Given the description of an element on the screen output the (x, y) to click on. 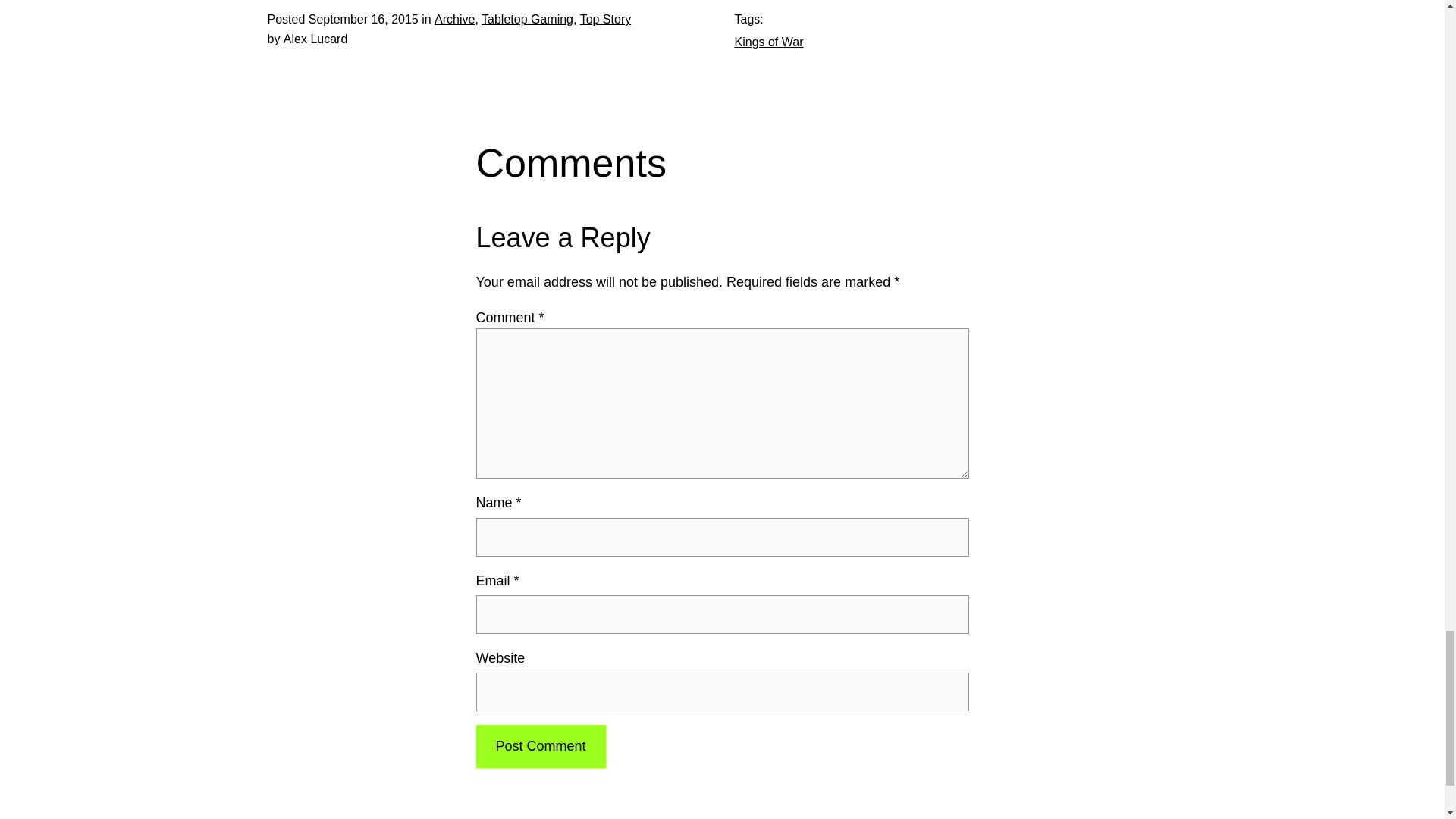
Post Comment (540, 746)
Top Story (605, 19)
Post Comment (540, 746)
Kings of War (768, 42)
Tabletop Gaming (527, 19)
Archive (453, 19)
